Given the description of an element on the screen output the (x, y) to click on. 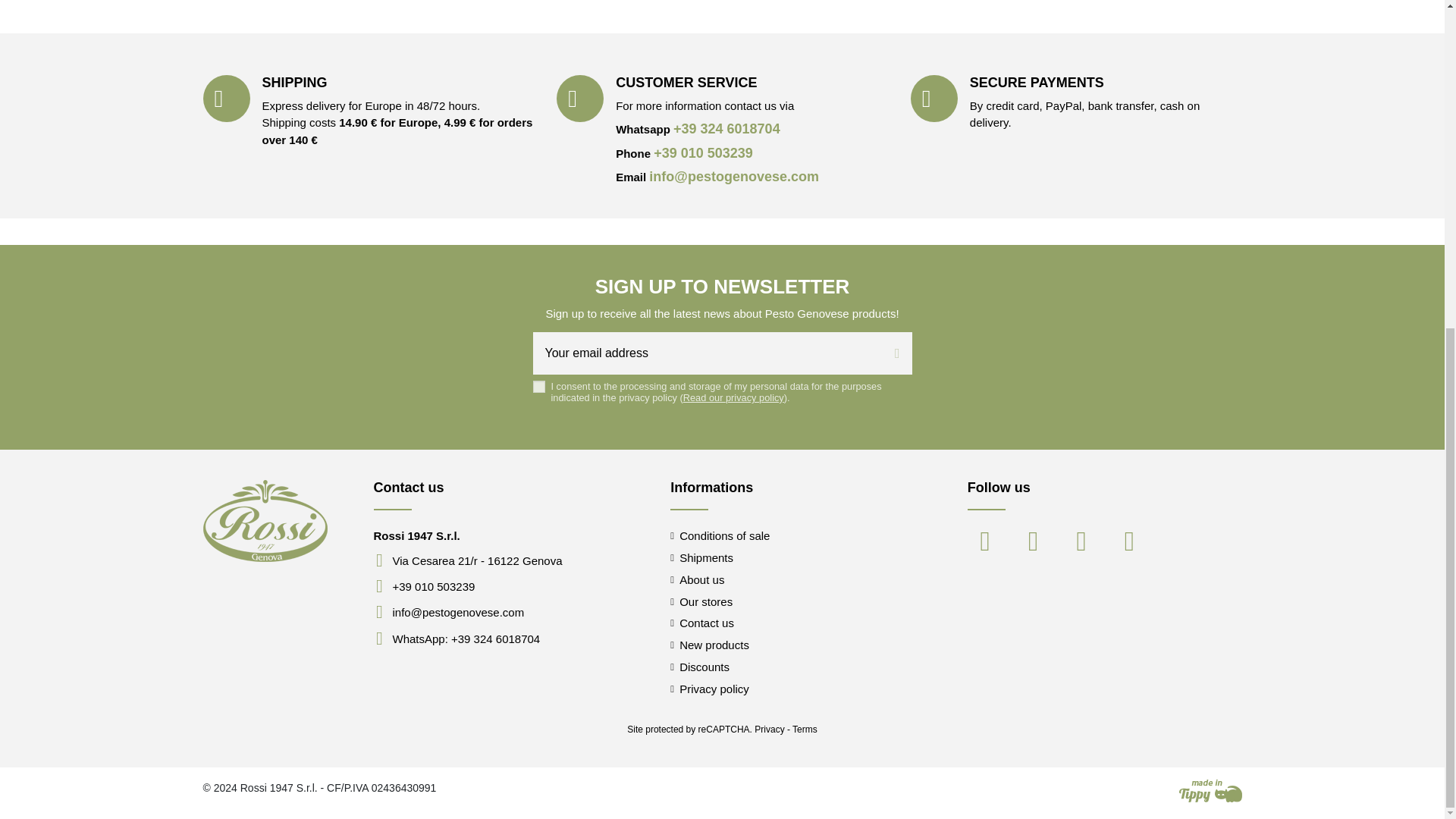
Our special products (699, 667)
About us (696, 579)
Conditions of sale (719, 535)
Our new products (709, 645)
Made in Tippy (1209, 790)
Information on shipments (701, 557)
Use our form to contact us (701, 623)
